Given the description of an element on the screen output the (x, y) to click on. 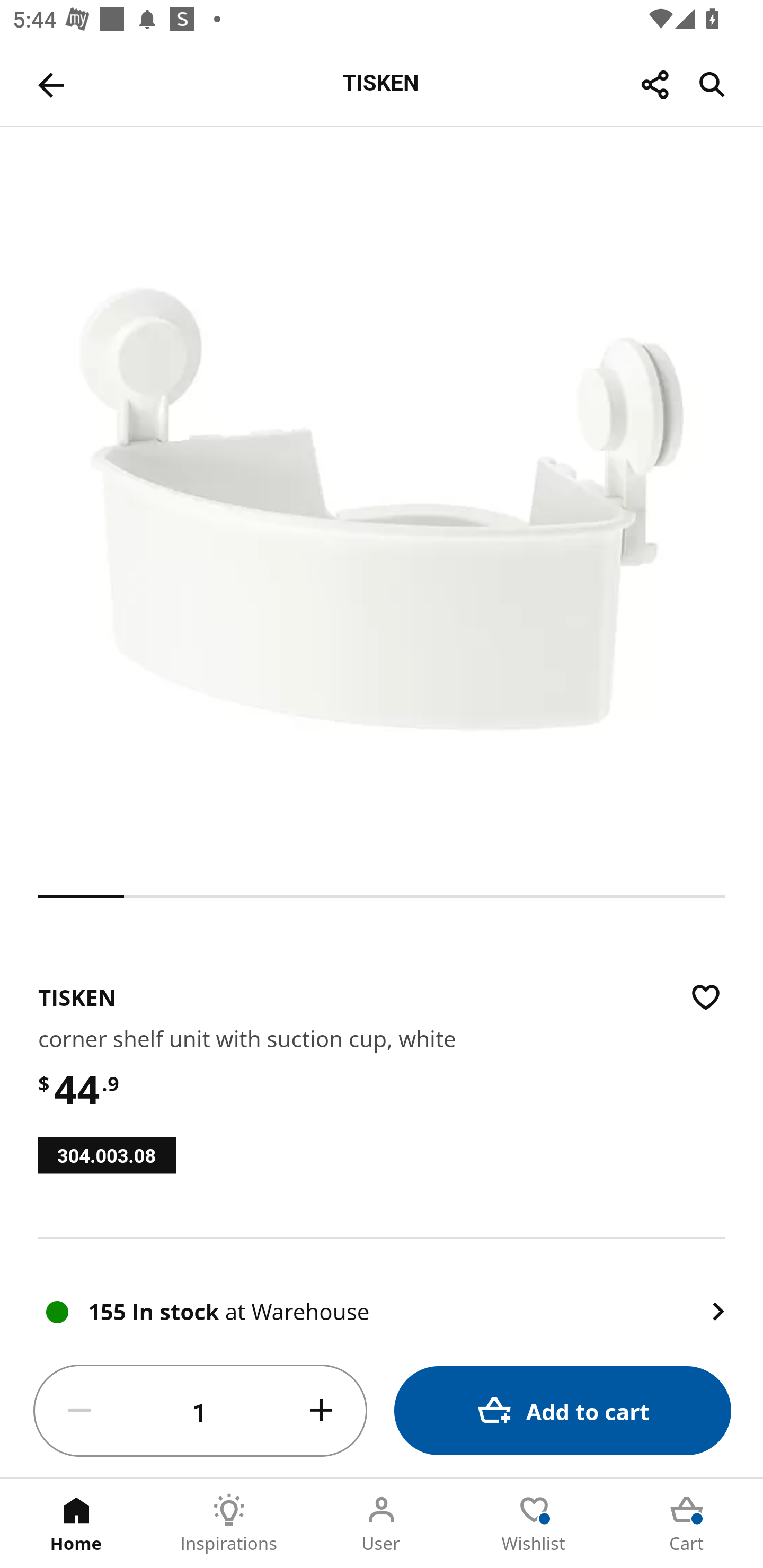
155 In stock at Warehouse (381, 1290)
Add to cart (562, 1410)
1 (200, 1411)
Home
Tab 1 of 5 (76, 1522)
Inspirations
Tab 2 of 5 (228, 1522)
User
Tab 3 of 5 (381, 1522)
Wishlist
Tab 4 of 5 (533, 1522)
Cart
Tab 5 of 5 (686, 1522)
